Given the description of an element on the screen output the (x, y) to click on. 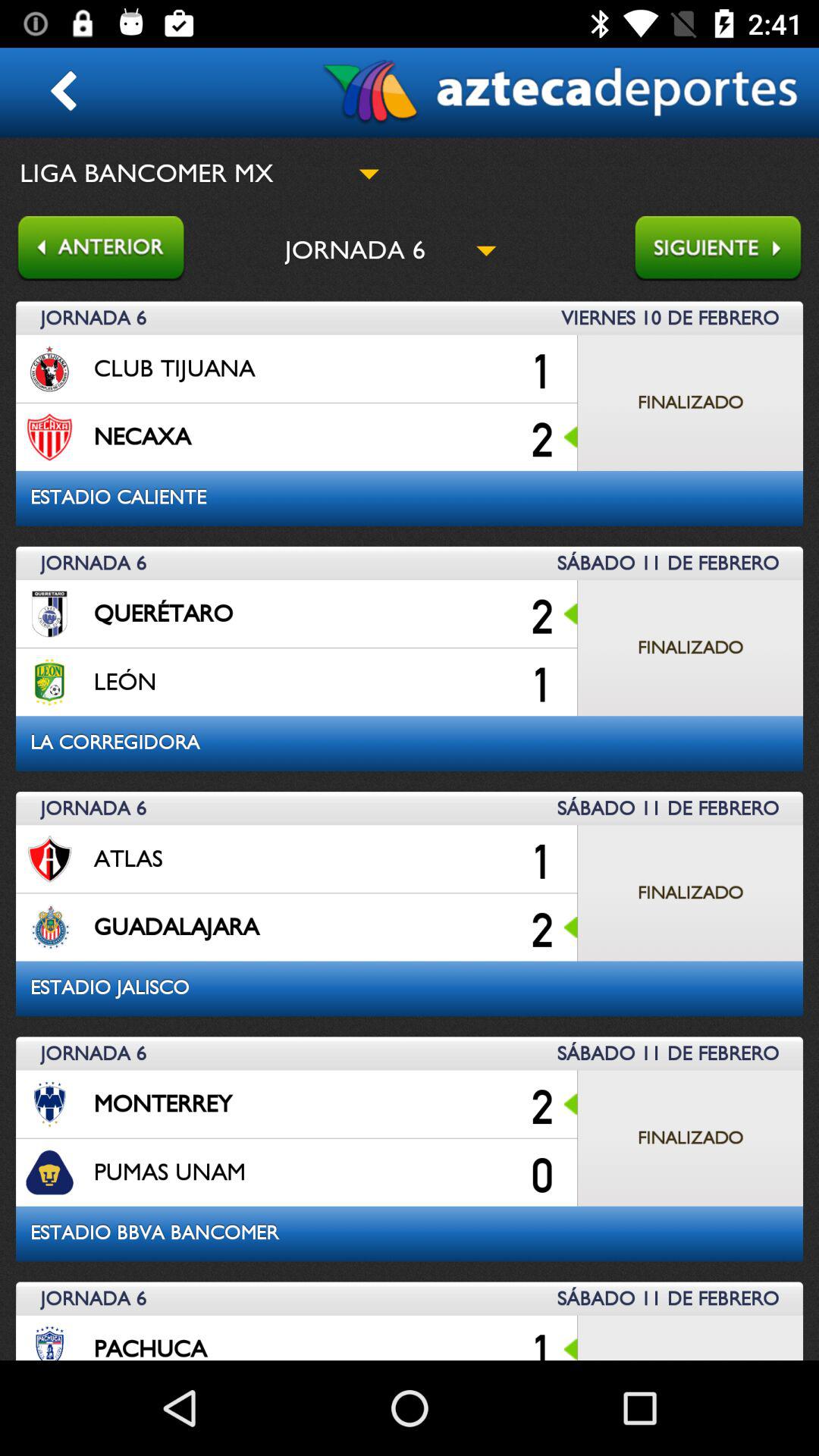
go next (726, 249)
